Given the description of an element on the screen output the (x, y) to click on. 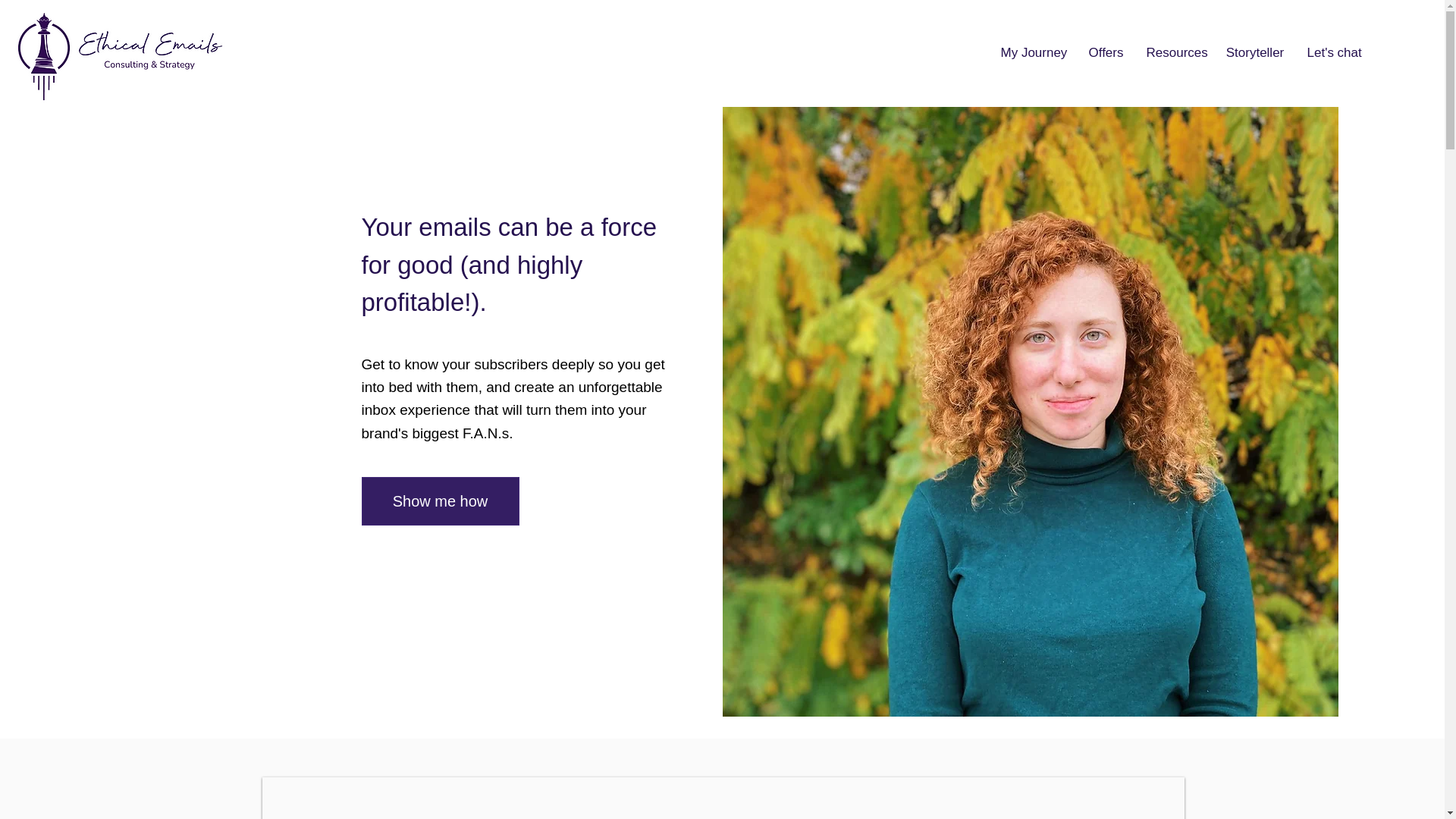
Let's chat (1333, 52)
My Journey (1032, 52)
Storyteller (1254, 52)
Show me how (439, 500)
